Given the description of an element on the screen output the (x, y) to click on. 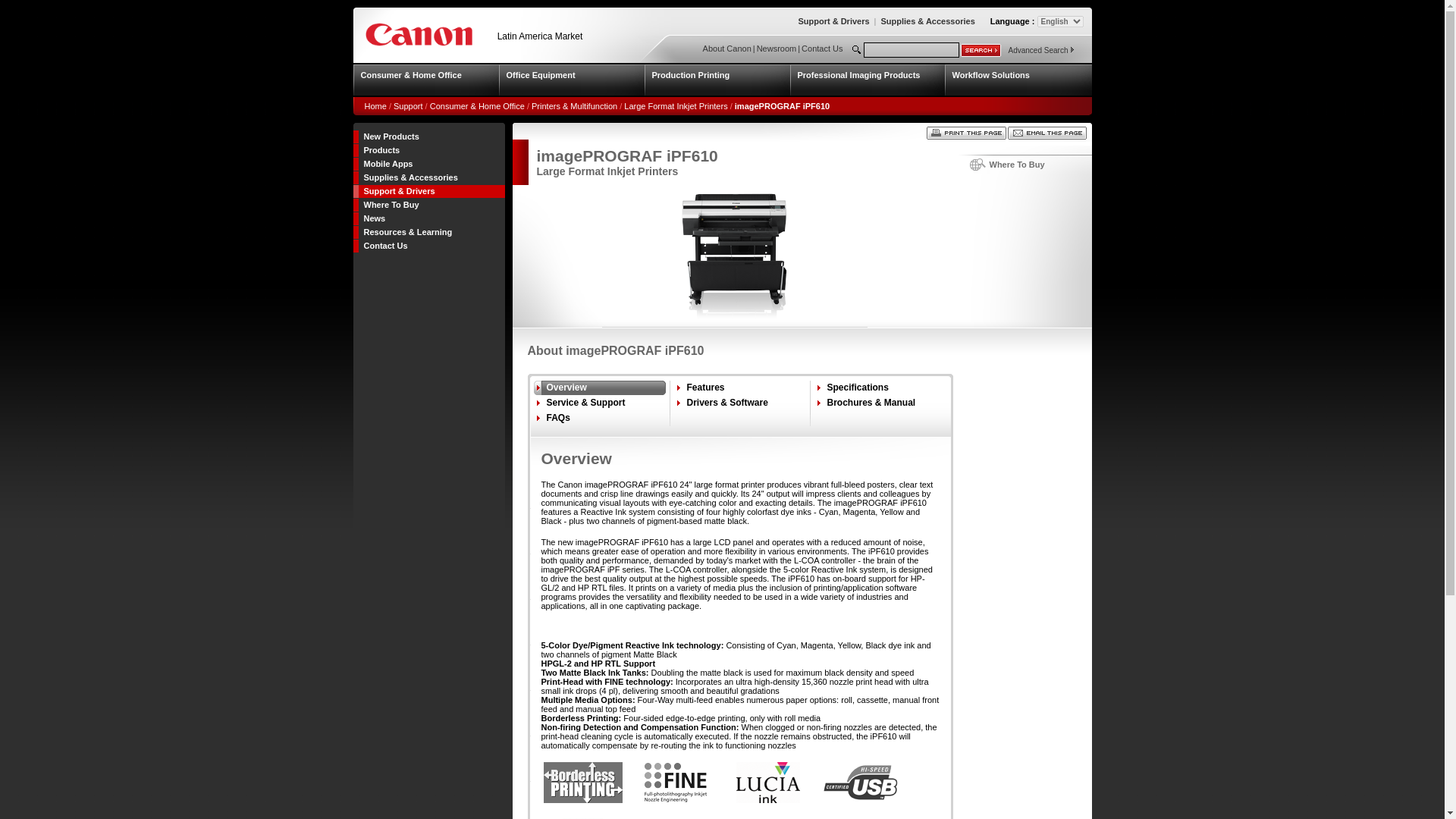
Newsroom (776, 48)
Certified USB Hi-Speed : Certified Hi-Speed USB (860, 782)
About Canon (726, 48)
About Canon (726, 48)
Contact Us (821, 48)
Professional Imaging Products (867, 80)
Advanced Search (1038, 49)
Contact Us (821, 48)
Production Printing (717, 80)
Office Equipment (572, 80)
Newsroom (776, 48)
